Given the description of an element on the screen output the (x, y) to click on. 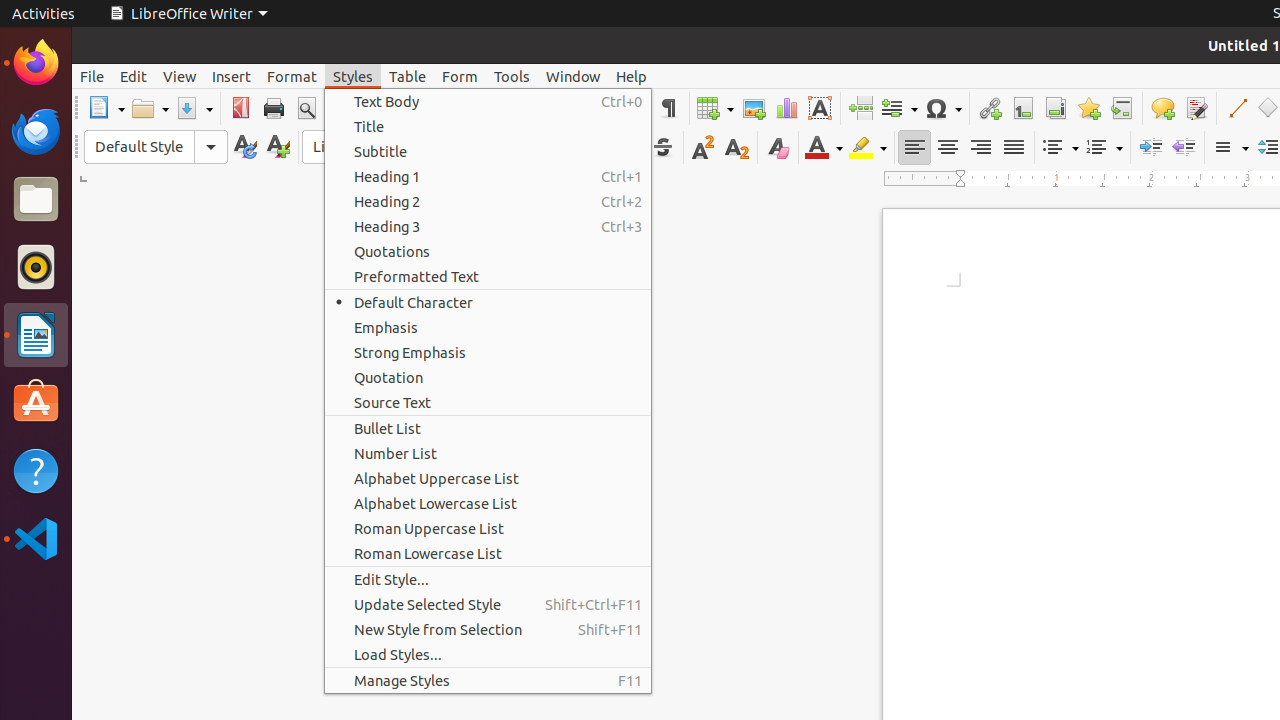
Clear Element type: push-button (777, 147)
Line Spacing Element type: push-button (1230, 147)
Load Styles... Element type: menu-item (488, 654)
Text Box Element type: push-button (819, 108)
Font Color Element type: push-button (824, 147)
